Given the description of an element on the screen output the (x, y) to click on. 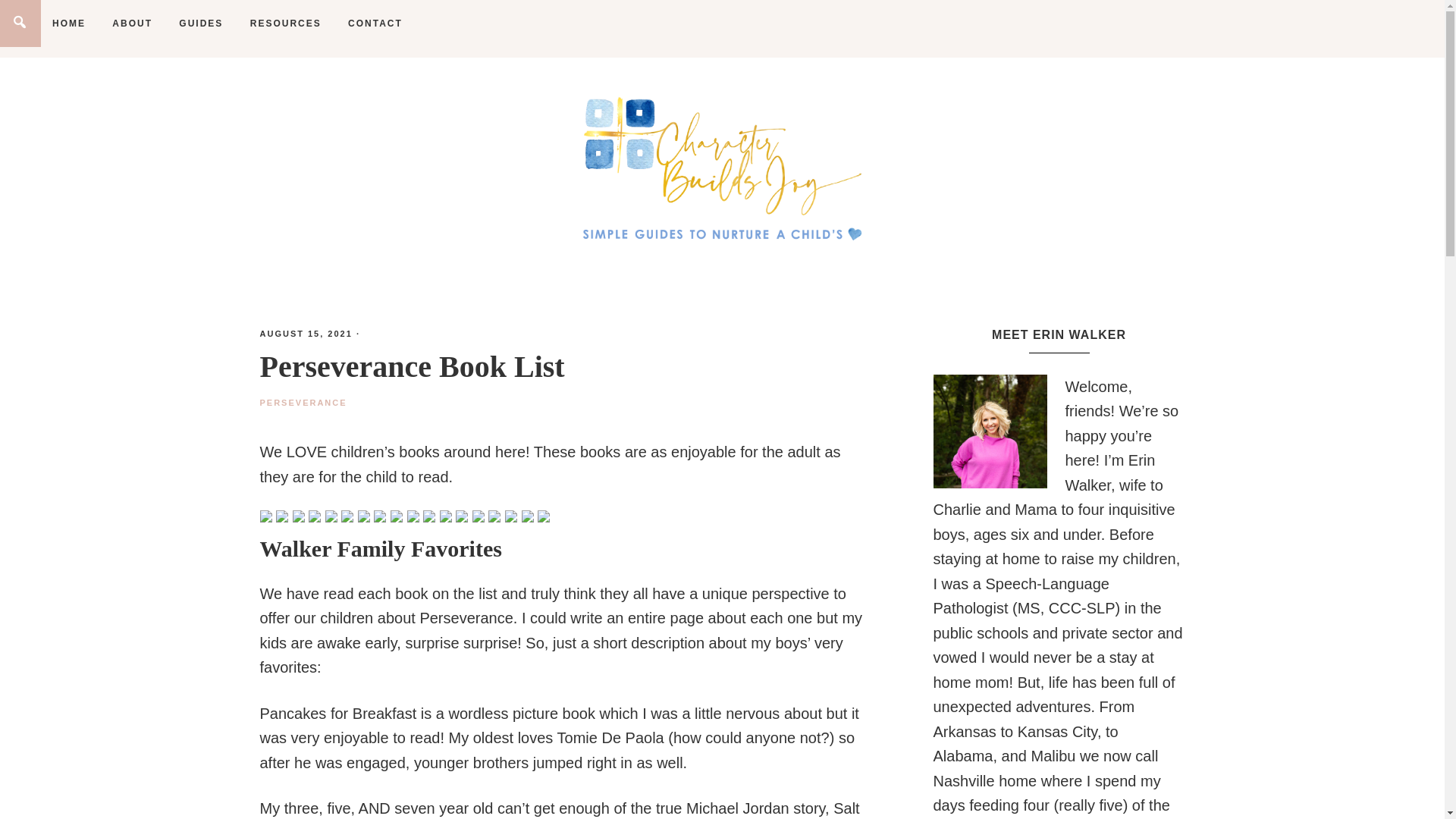
ABOUT (131, 23)
CONTACT (374, 23)
HOME (68, 23)
RESOURCES (285, 23)
GUIDES (200, 23)
PERSEVERANCE (302, 401)
